Given the description of an element on the screen output the (x, y) to click on. 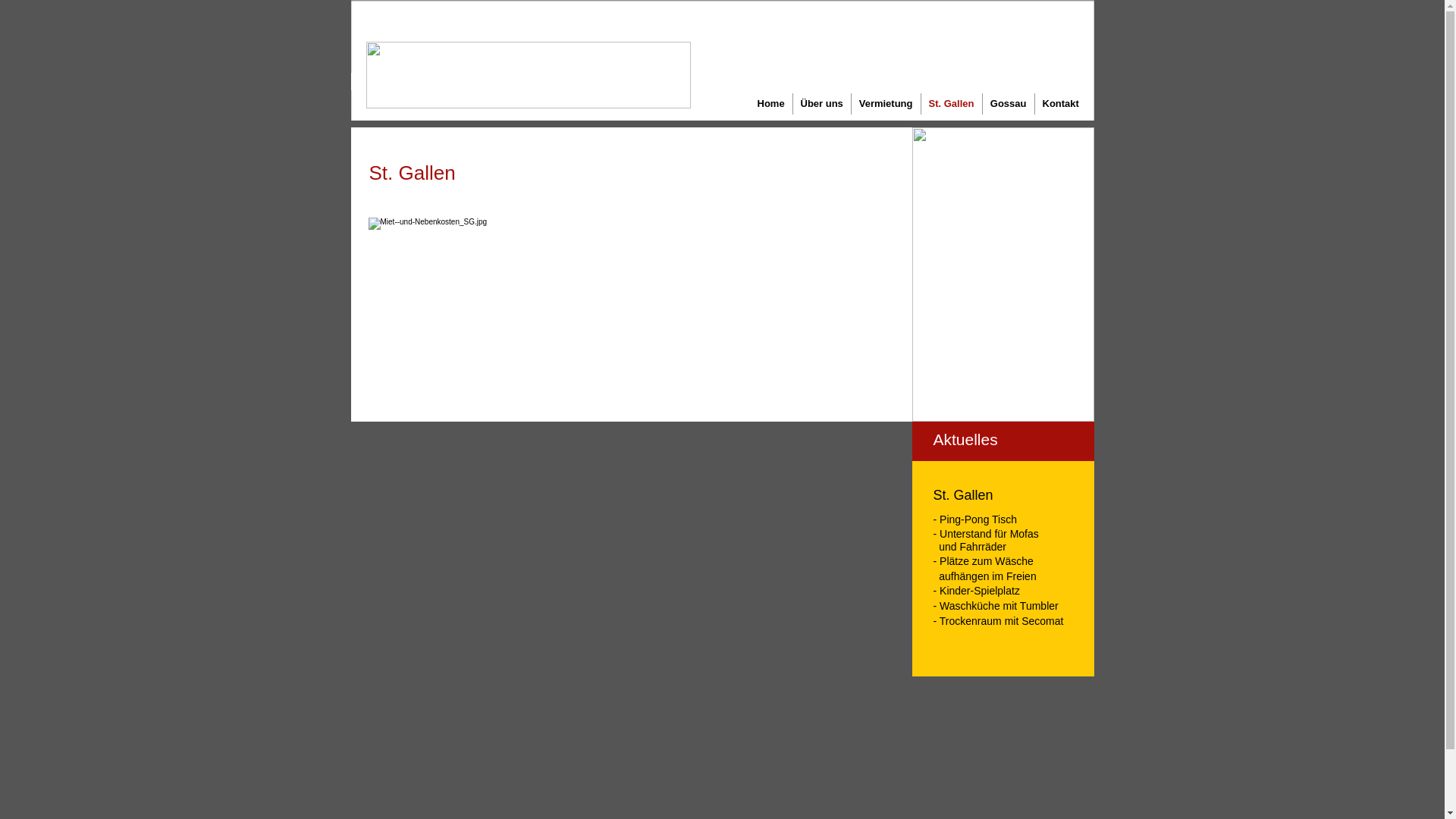
Vermietung Element type: text (884, 103)
St. Gallen Element type: text (950, 103)
Kontakt Element type: text (1059, 103)
Home Element type: text (770, 103)
LogoBGS_ZumStern.jpg Element type: hover (527, 74)
Gossau Element type: text (1008, 103)
Google Maps Element type: hover (630, 549)
